Given the description of an element on the screen output the (x, y) to click on. 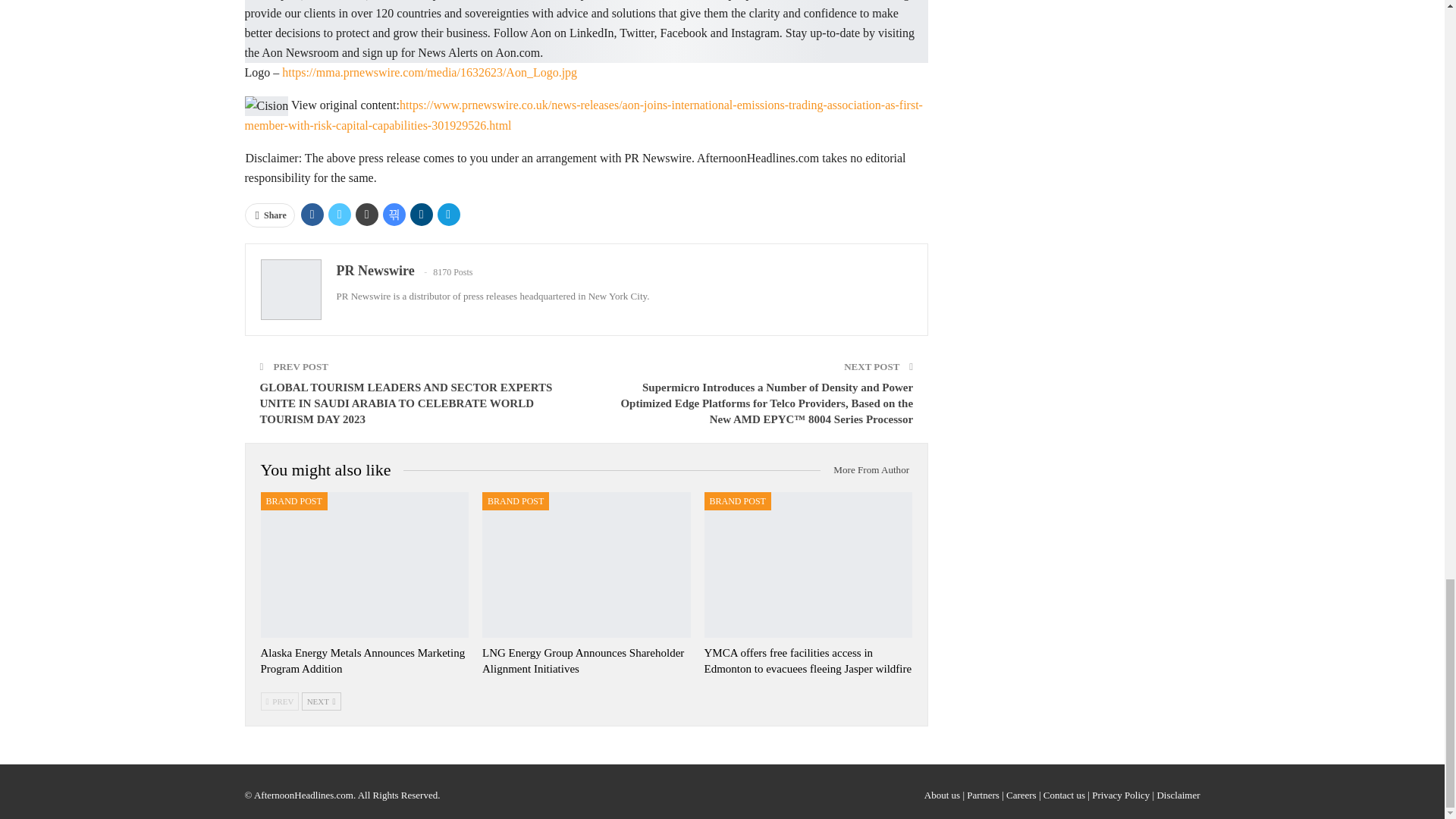
Alaska Energy Metals Announces Marketing Program Addition (362, 660)
Cision (266, 106)
LNG Energy Group Announces Shareholder Alignment Initiatives (582, 660)
LNG Energy Group Announces Shareholder Alignment Initiatives (585, 565)
Alaska Energy Metals Announces Marketing Program Addition (364, 565)
